Given the description of an element on the screen output the (x, y) to click on. 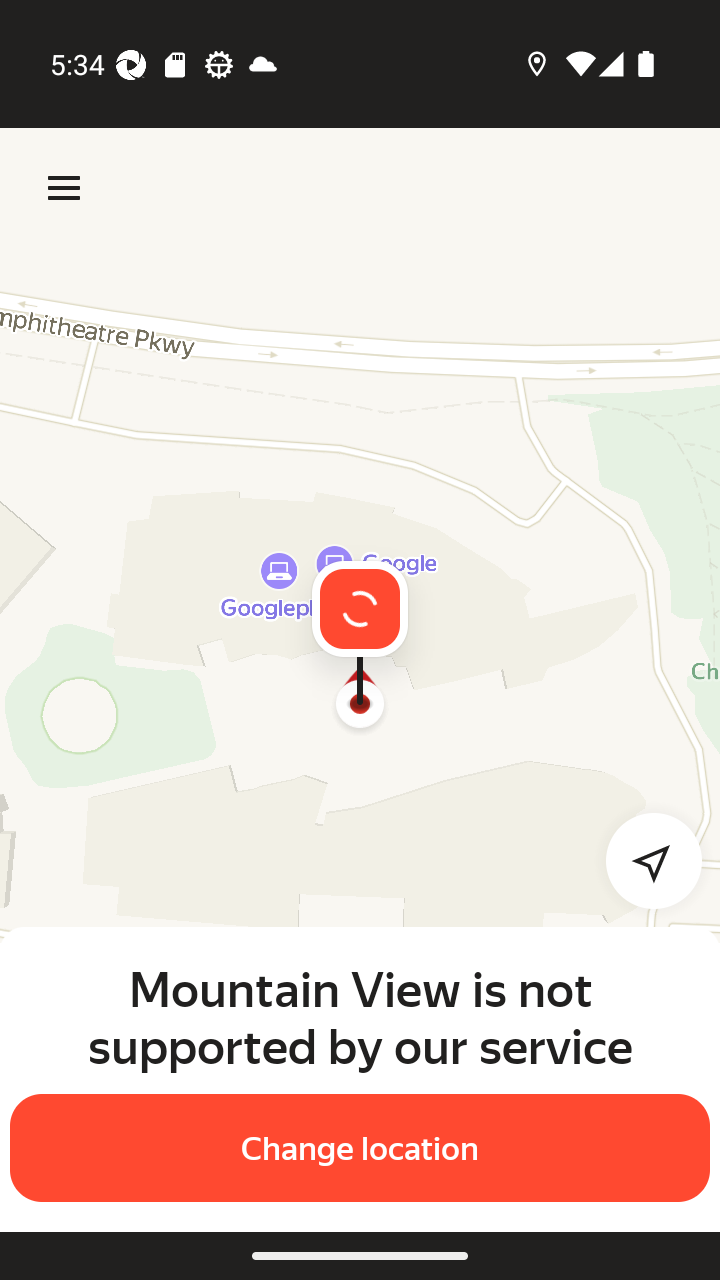
Menu Menu Menu (64, 188)
Detect my location (641, 860)
Mountain View is not supported by our service (360, 1017)
Change location (359, 1147)
